Given the description of an element on the screen output the (x, y) to click on. 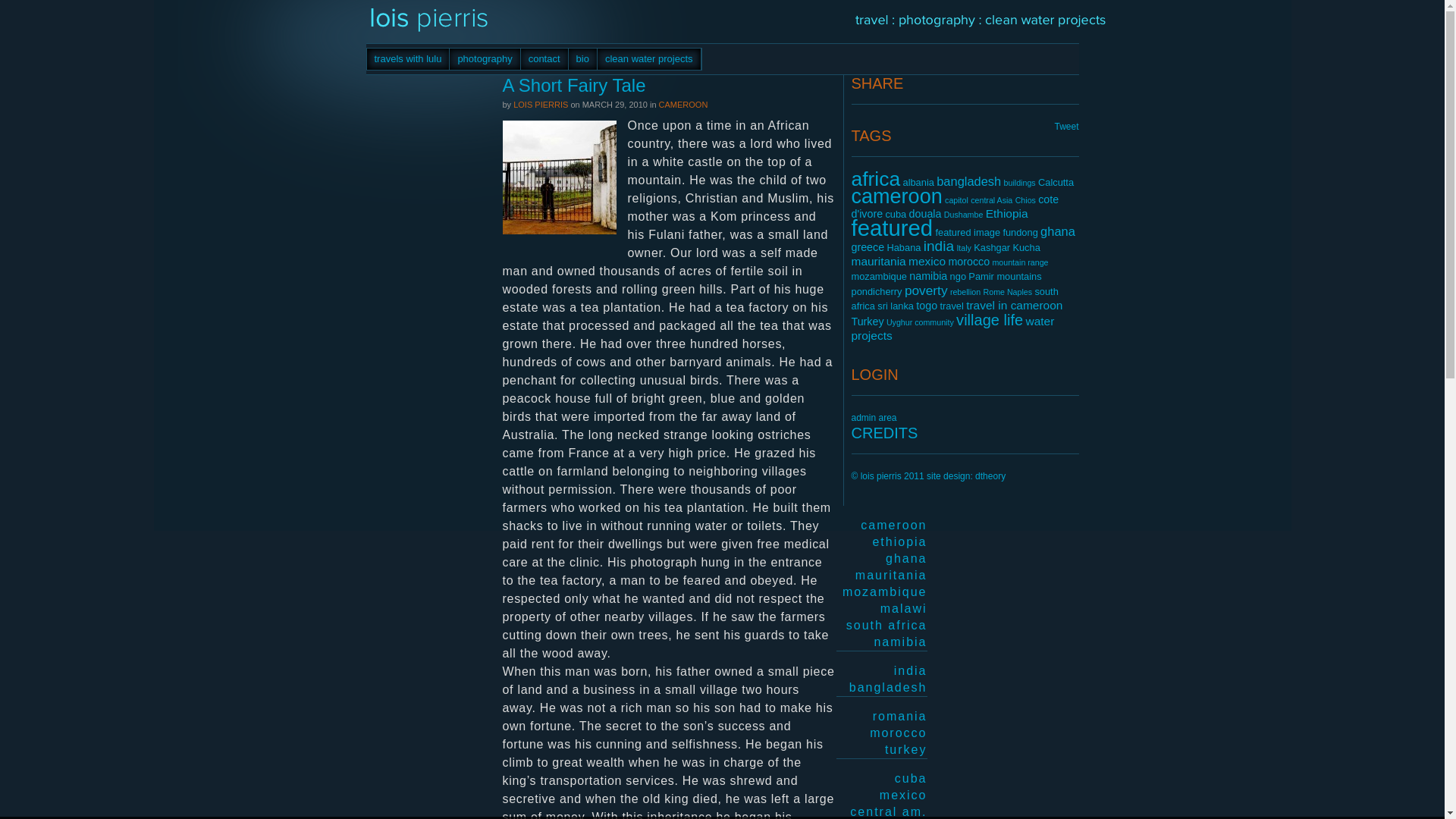
ghana (1058, 231)
travels with lulu (407, 58)
fundong (1019, 232)
central Asia (991, 199)
tea-castle-7609 (558, 177)
contact (544, 58)
Dushambe (963, 214)
douala (925, 214)
india (938, 245)
buildings (1019, 182)
Ethiopia (1006, 213)
bio (582, 58)
Chios (1024, 199)
africa (874, 178)
featured (891, 227)
